Given the description of an element on the screen output the (x, y) to click on. 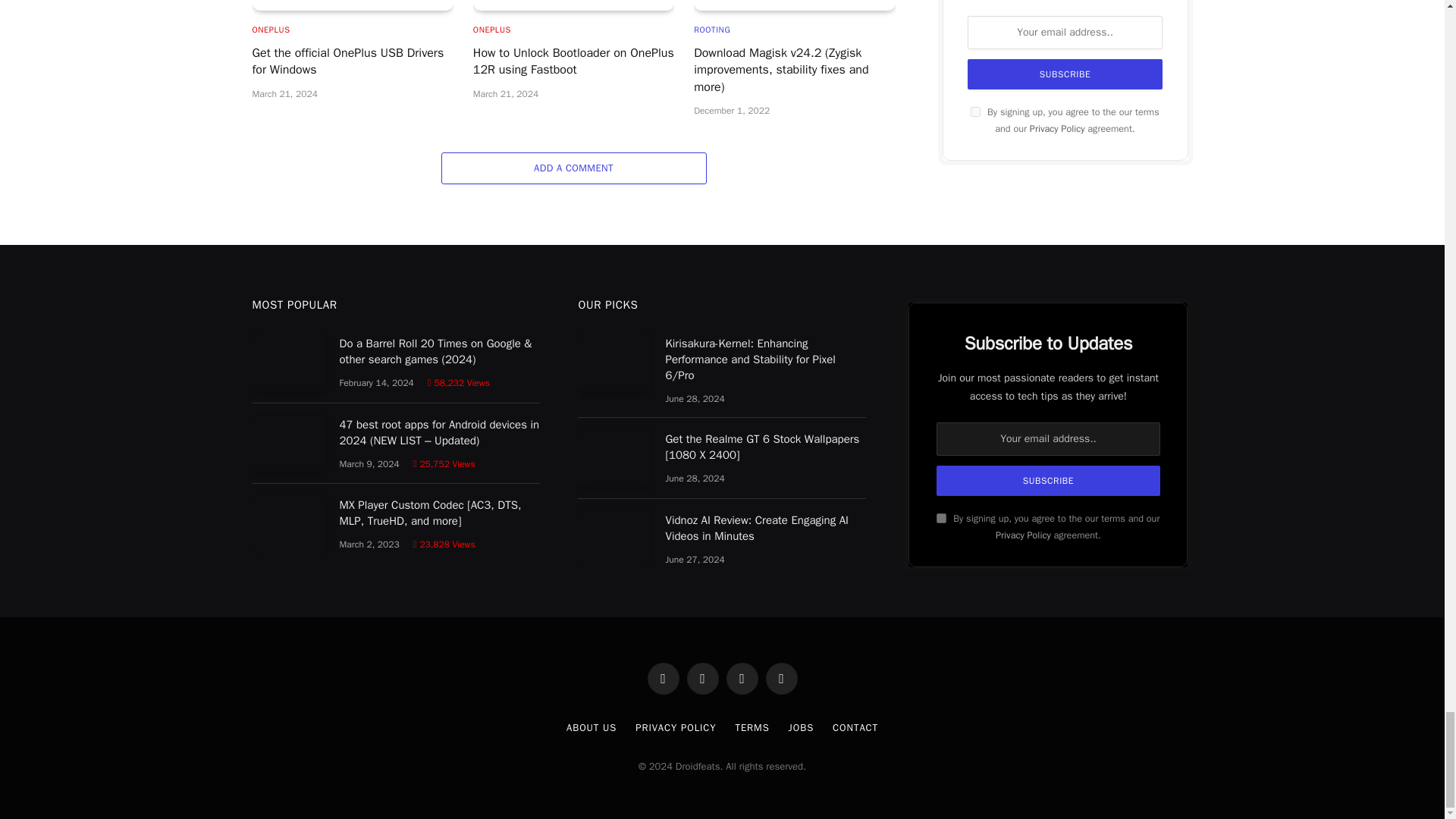
on (941, 518)
Subscribe (1047, 481)
